Given the description of an element on the screen output the (x, y) to click on. 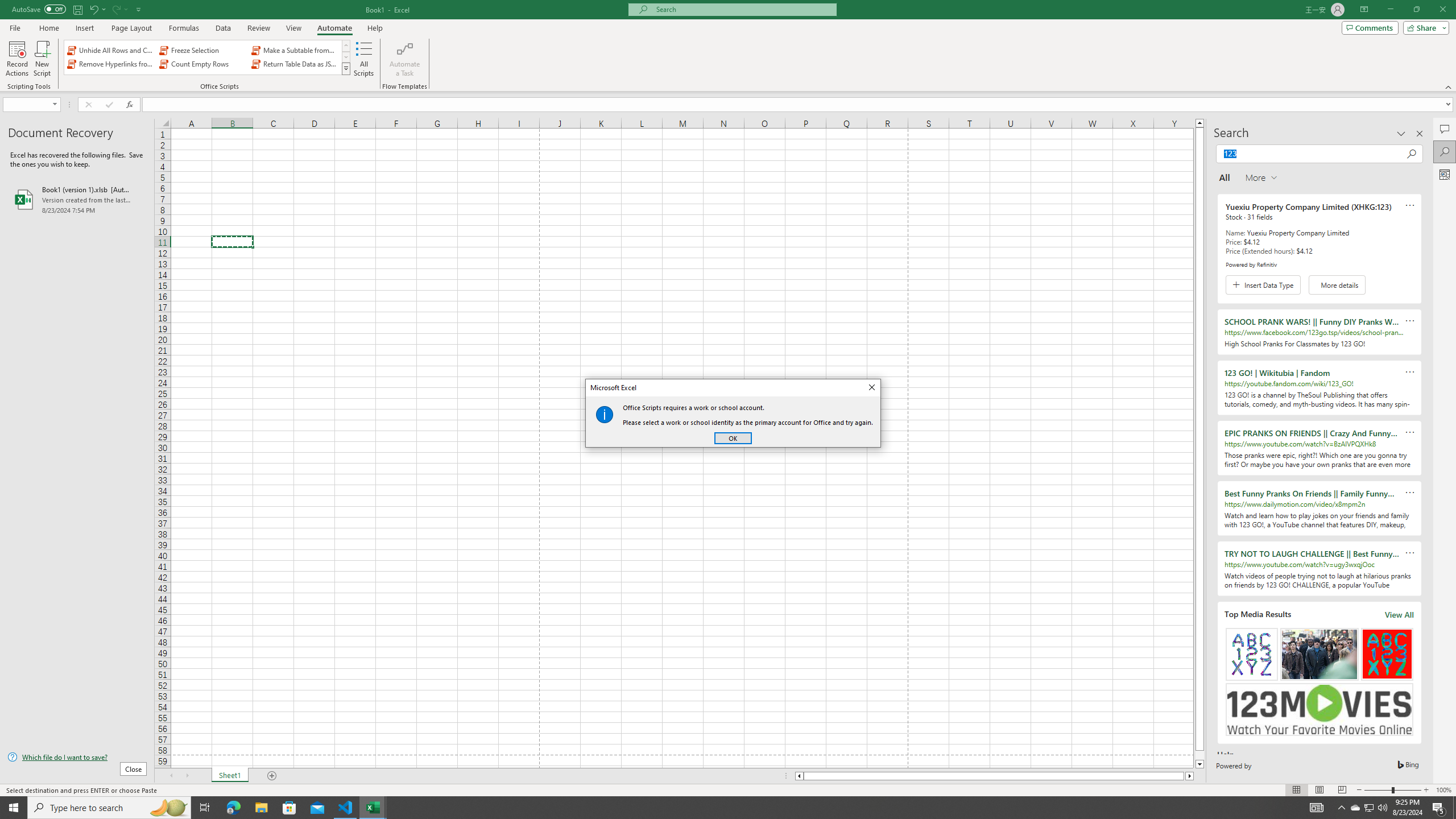
Microsoft Store (289, 807)
All Scripts (363, 58)
AutomationID: 4105 (1316, 807)
File Explorer (261, 807)
Start (13, 807)
Running applications (717, 807)
